Given the description of an element on the screen output the (x, y) to click on. 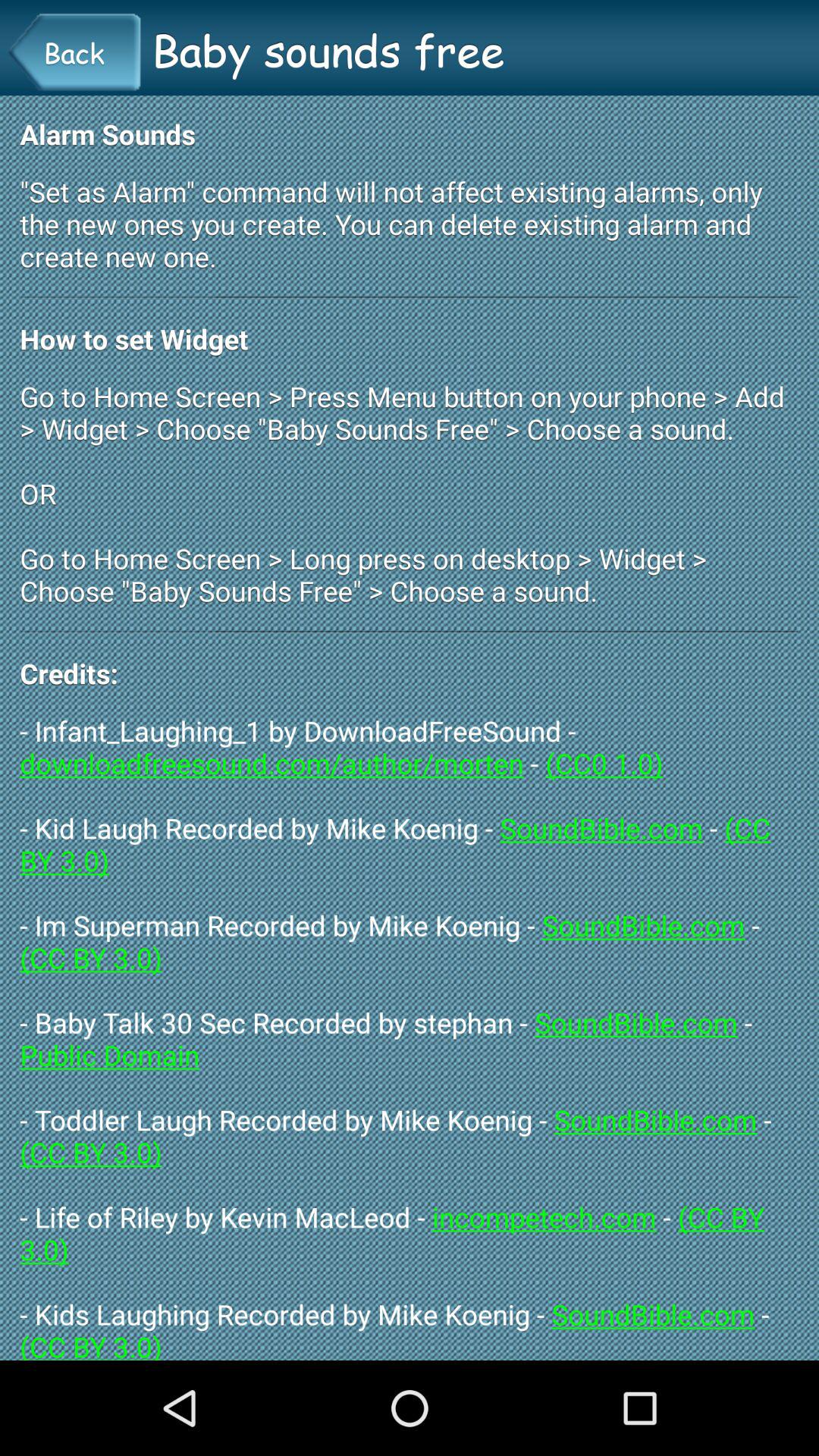
select back at the top left corner (73, 52)
